Given the description of an element on the screen output the (x, y) to click on. 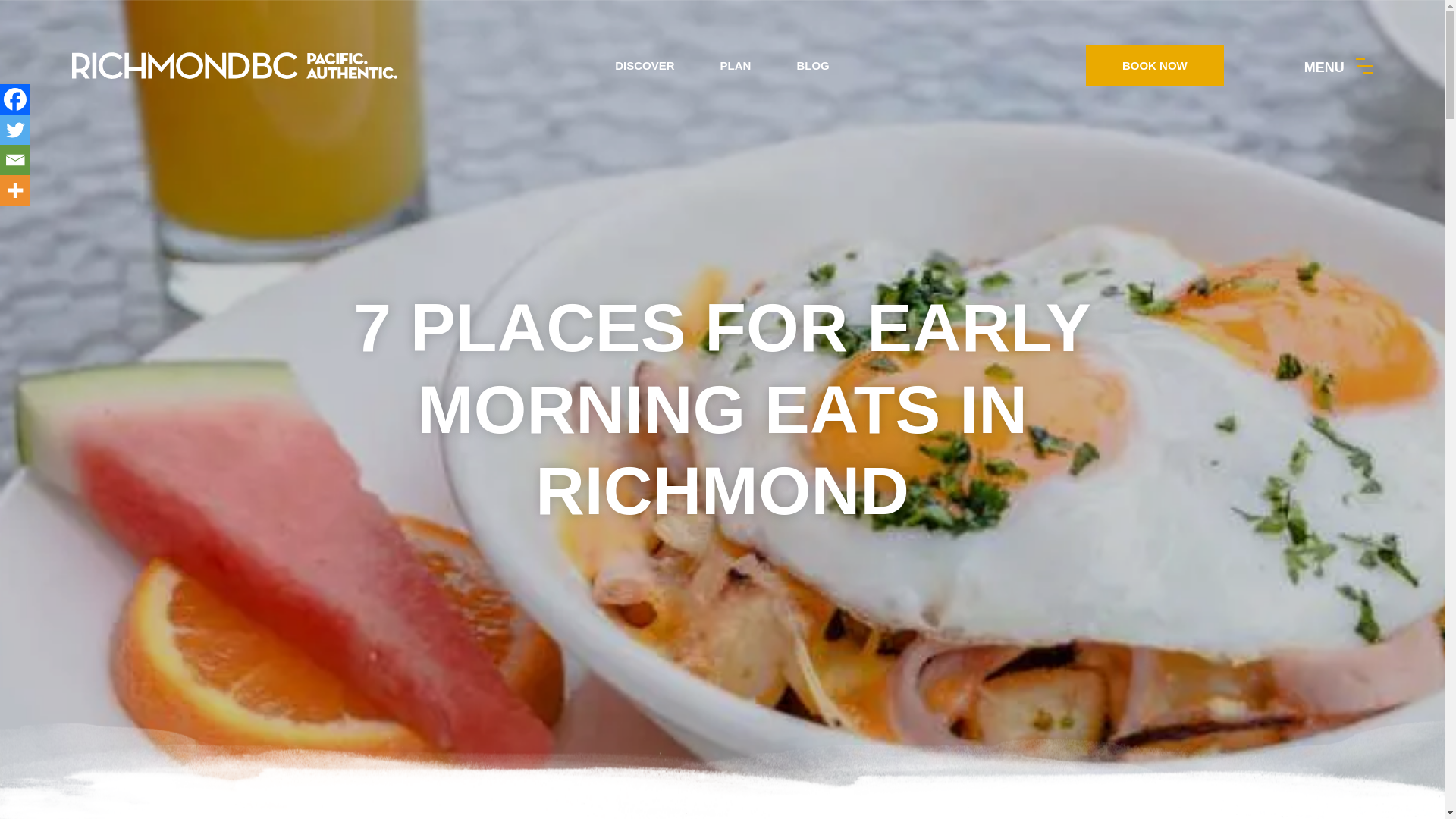
DISCOVER (644, 65)
More (15, 190)
Twitter (15, 129)
Facebook (15, 99)
Email (15, 159)
PLAN (735, 65)
BOOK NOW (1155, 65)
BLOG (812, 65)
